Given the description of an element on the screen output the (x, y) to click on. 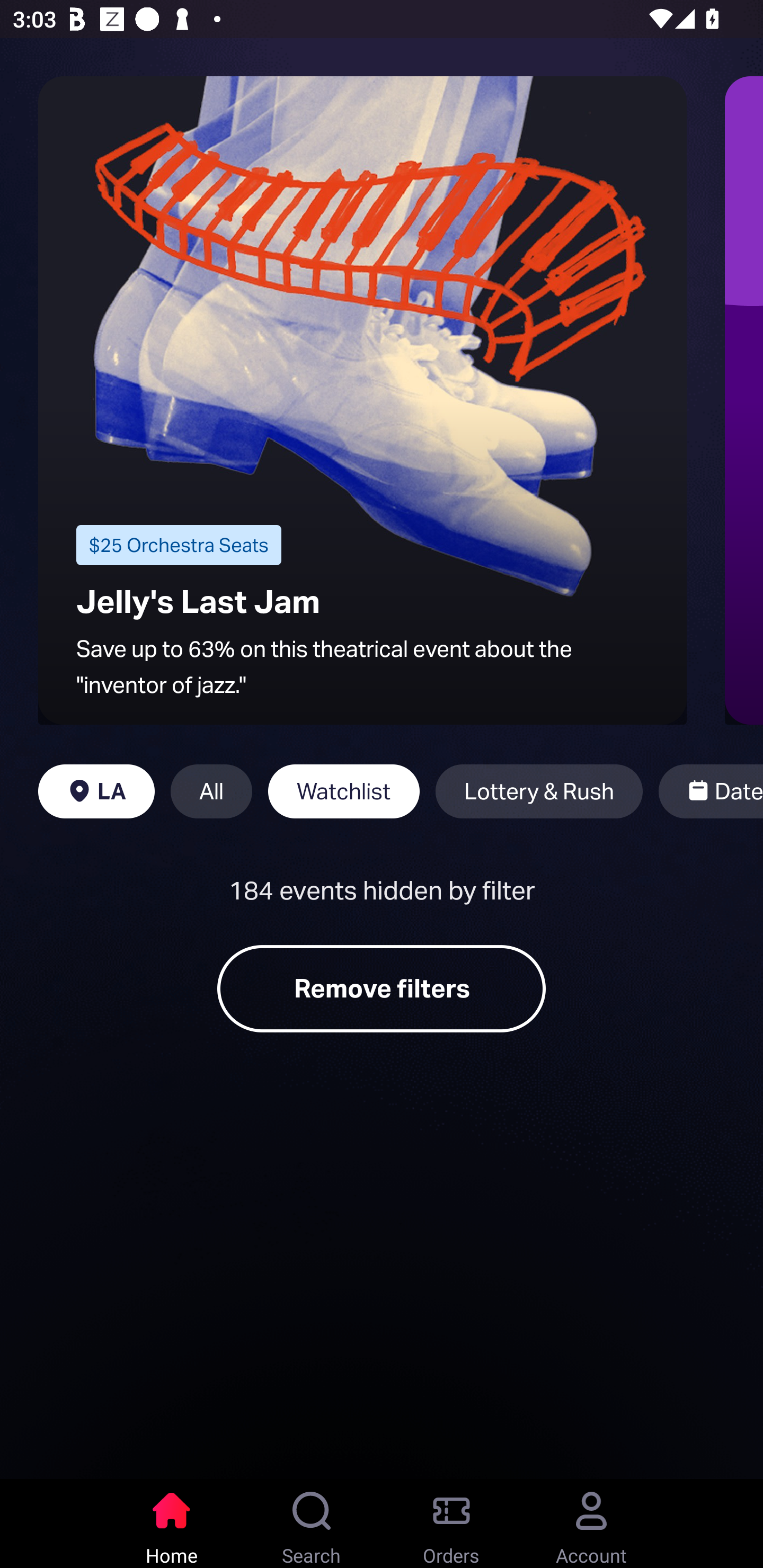
LA (96, 791)
All (211, 791)
Watchlist (343, 791)
Lottery & Rush (538, 791)
Remove filters (381, 988)
Search (311, 1523)
Orders (451, 1523)
Account (591, 1523)
